Given the description of an element on the screen output the (x, y) to click on. 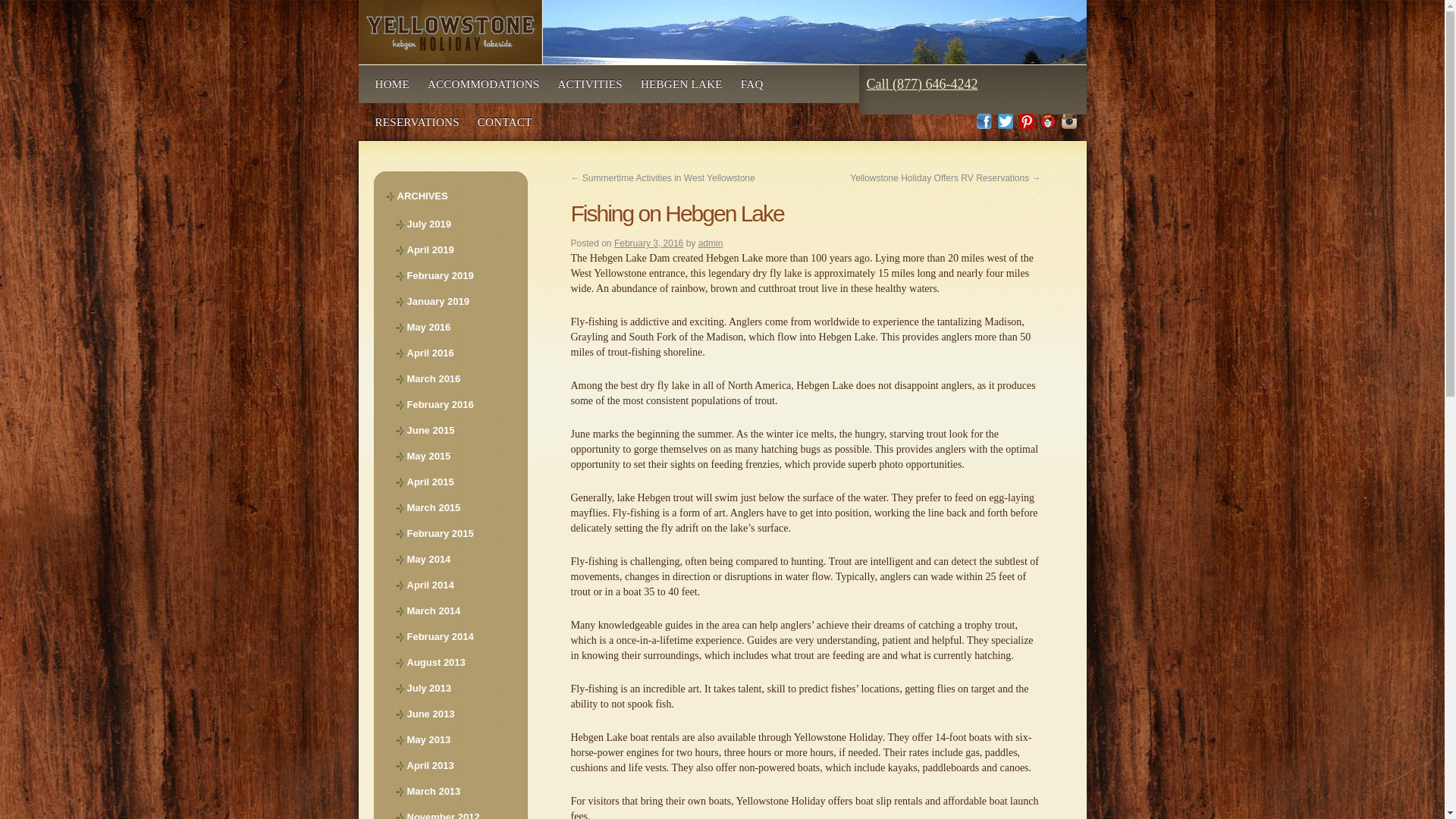
April 2016 (455, 352)
May 2014 (455, 559)
January 2019 (455, 301)
Facebook (983, 120)
July 2019 (455, 224)
Yellowstone Holiday (722, 32)
GoodSam (1048, 120)
Pinterest (1026, 120)
ACTIVITIES (589, 84)
GoodSam (1048, 120)
HOME (391, 84)
June 2015 (455, 430)
Pinterest (1026, 120)
Call Yellowstone Holiday (921, 84)
April 2019 (455, 249)
